Given the description of an element on the screen output the (x, y) to click on. 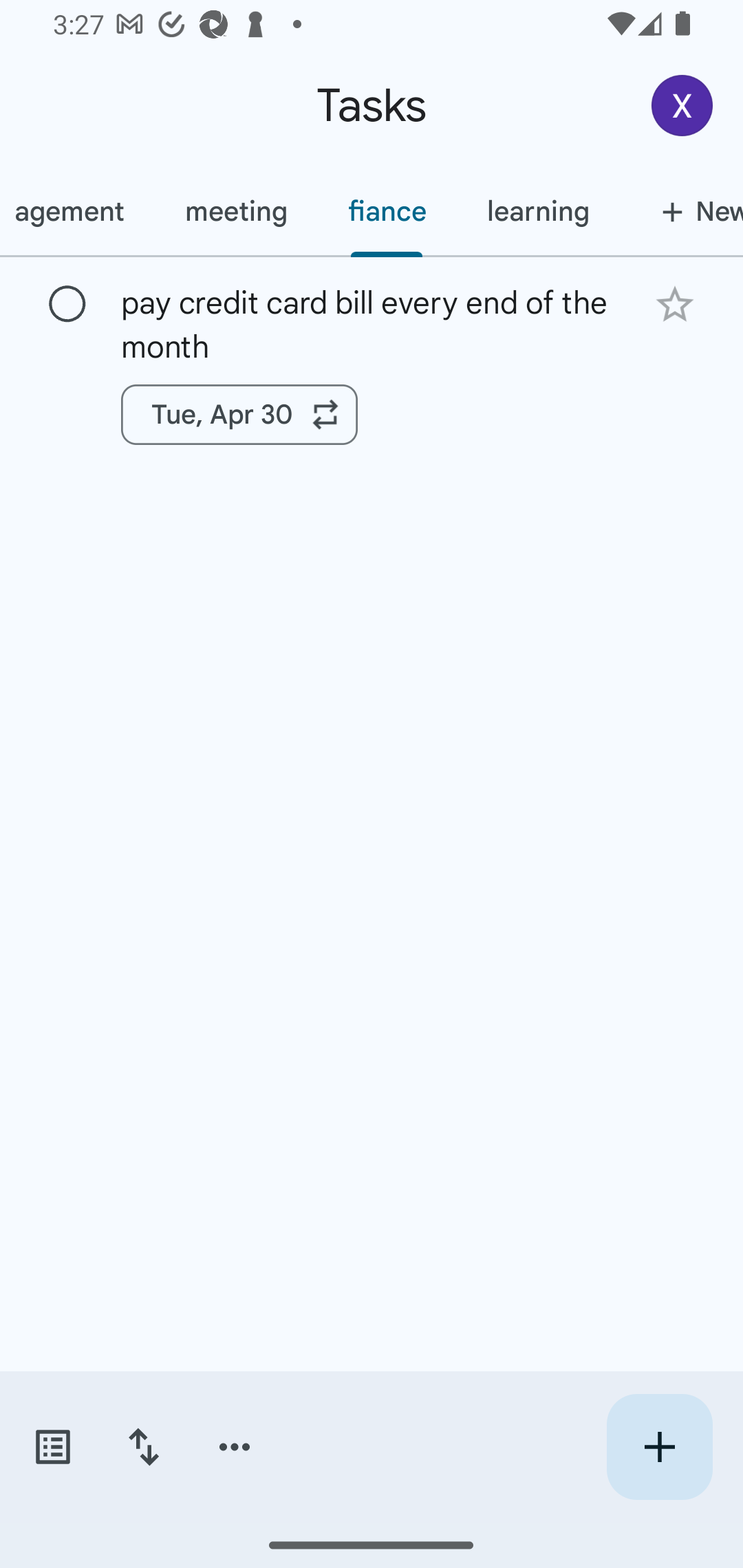
home management (76, 211)
meeting (235, 211)
learning (537, 211)
New list (680, 211)
Add star (674, 303)
Mark as complete (67, 304)
Tue, Apr 30 (239, 414)
Switch task lists (52, 1447)
Create new task (659, 1446)
Change sort order (143, 1446)
More options (234, 1446)
